Given the description of an element on the screen output the (x, y) to click on. 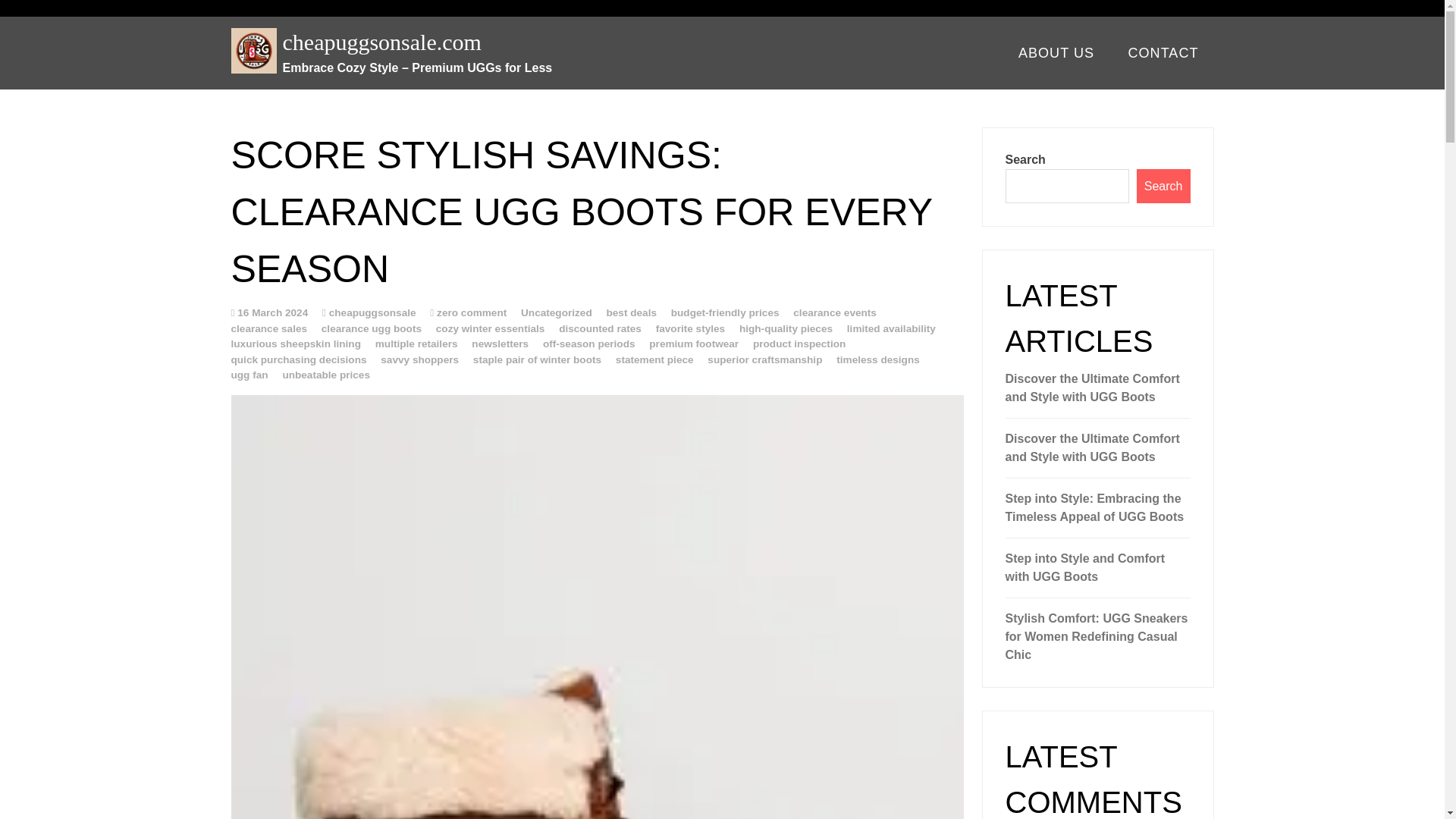
budget-friendly prices (724, 312)
best deals (630, 312)
CONTACT (1162, 53)
ugg fan (248, 374)
savvy shoppers (419, 358)
zero comment (471, 312)
favorite styles (690, 328)
clearance sales (268, 328)
timeless designs (877, 358)
high-quality pieces (785, 328)
cozy winter essentials (489, 328)
luxurious sheepskin lining (294, 343)
premium footwear (693, 343)
clearance ugg boots (371, 328)
staple pair of winter boots (537, 358)
